Given the description of an element on the screen output the (x, y) to click on. 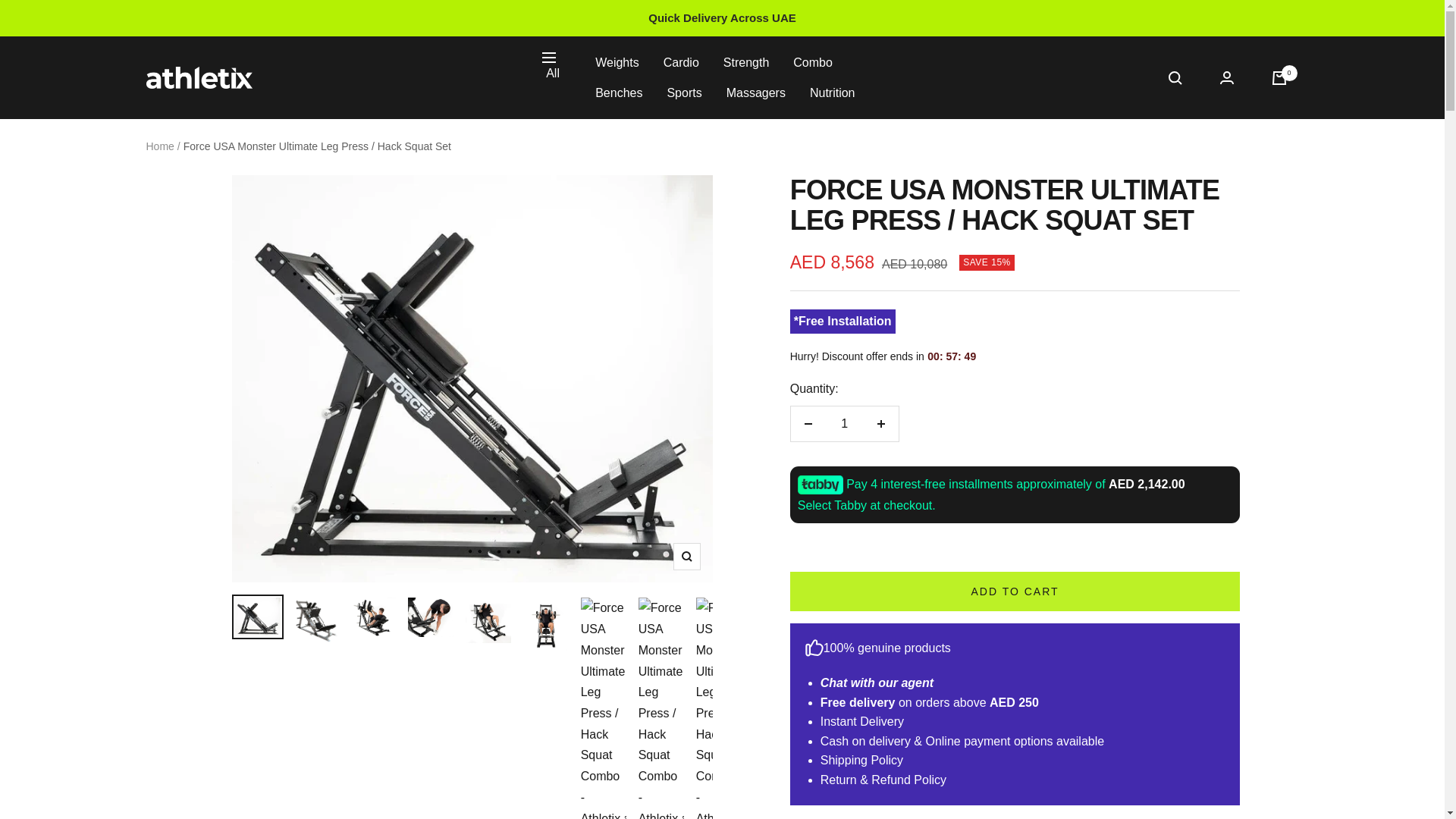
1 (844, 423)
Home (159, 146)
Combo (812, 62)
Athletix.ae (198, 77)
All (550, 68)
Cardio (680, 62)
0 (1279, 78)
Benches (618, 93)
Massagers (756, 93)
Nutrition (832, 93)
Weights (617, 62)
Zoom (686, 556)
Sports (683, 93)
Strength (745, 62)
